Given the description of an element on the screen output the (x, y) to click on. 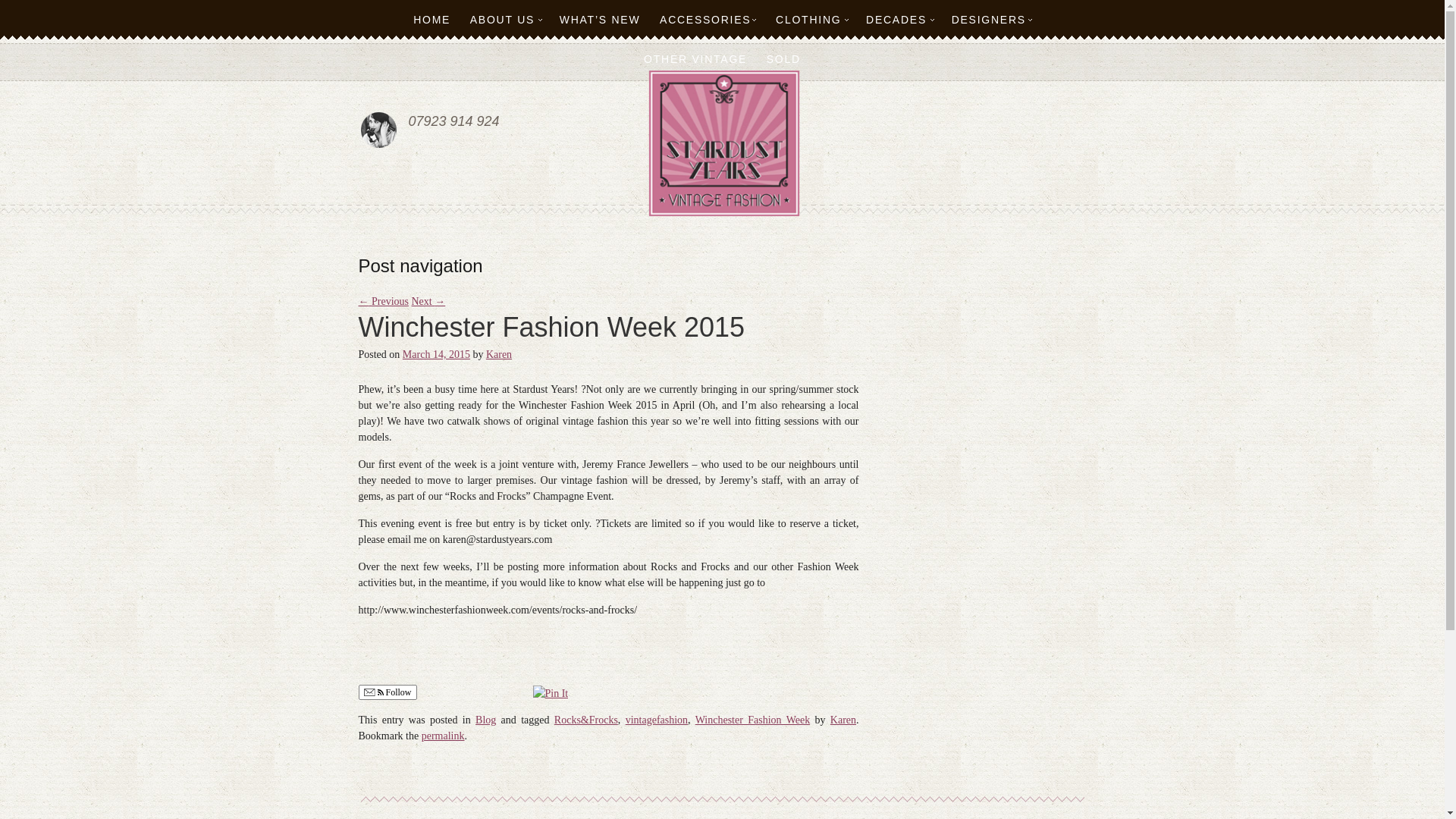
View all posts by Karen (499, 354)
DECADES (899, 19)
Email, RSS (374, 693)
ABOUT US (505, 19)
3:10 pm (436, 354)
Permalink to Winchester Fashion Week 2015 (443, 736)
HOME (432, 19)
ACCESSORIES (707, 19)
Stardust Years (722, 142)
CLOTHING (810, 19)
